Given the description of an element on the screen output the (x, y) to click on. 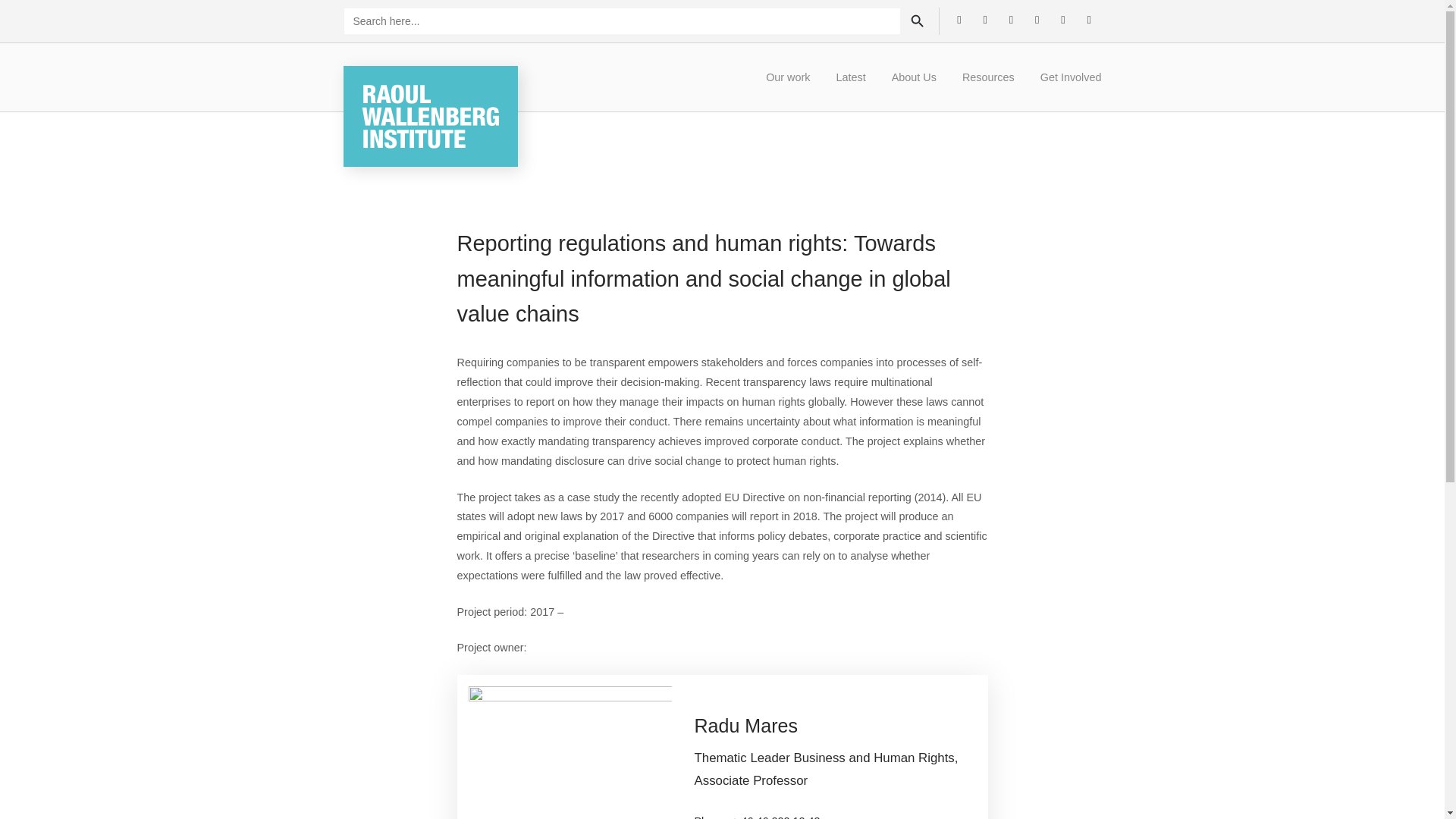
Our work (787, 77)
Latest (851, 77)
Newsletter (1062, 19)
SEARCH BUTTON (917, 21)
Soundcloud (1089, 19)
Home (429, 114)
About Us (913, 77)
